Given the description of an element on the screen output the (x, y) to click on. 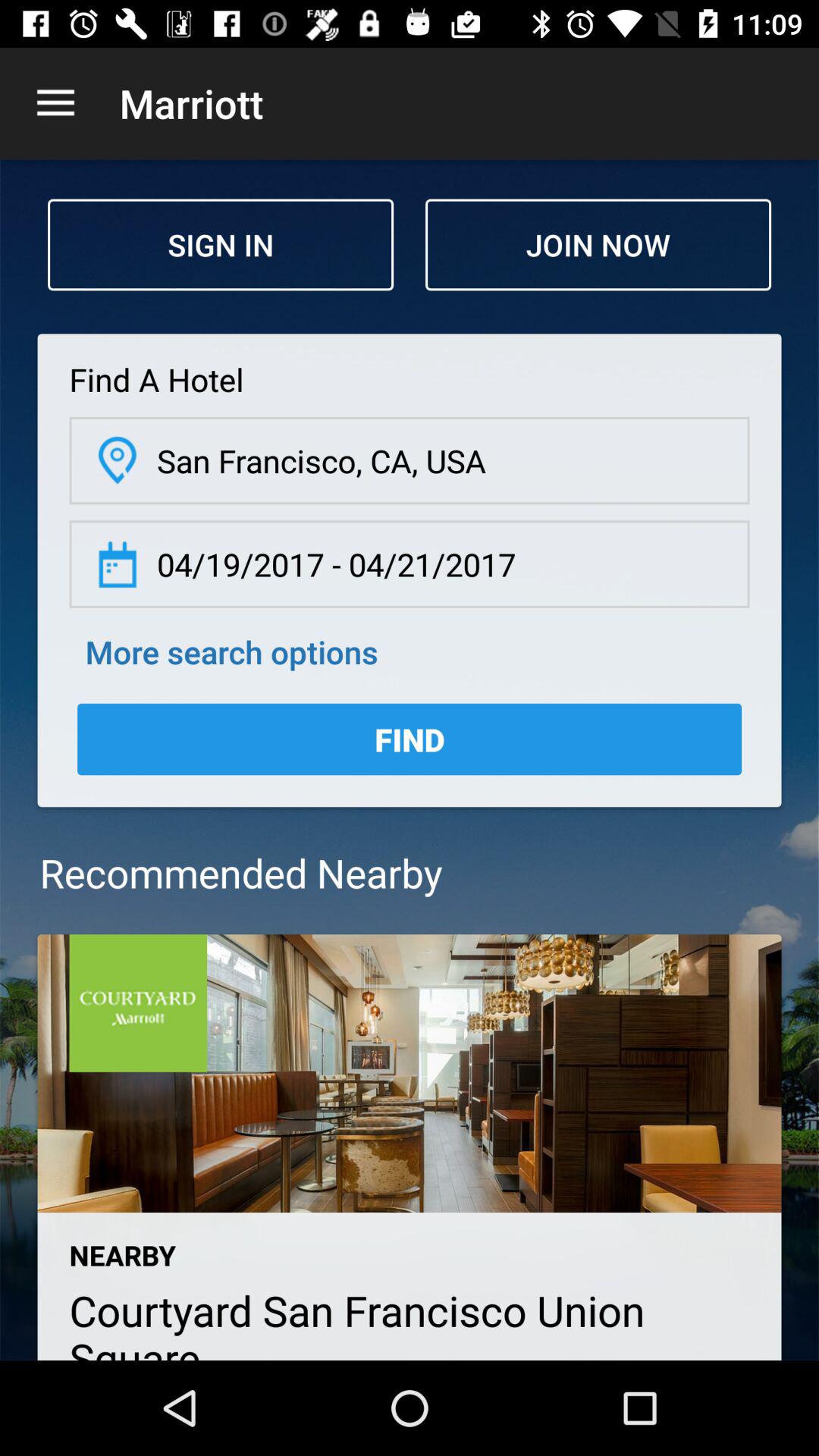
select the icon to the left of the marriott icon (55, 103)
